Given the description of an element on the screen output the (x, y) to click on. 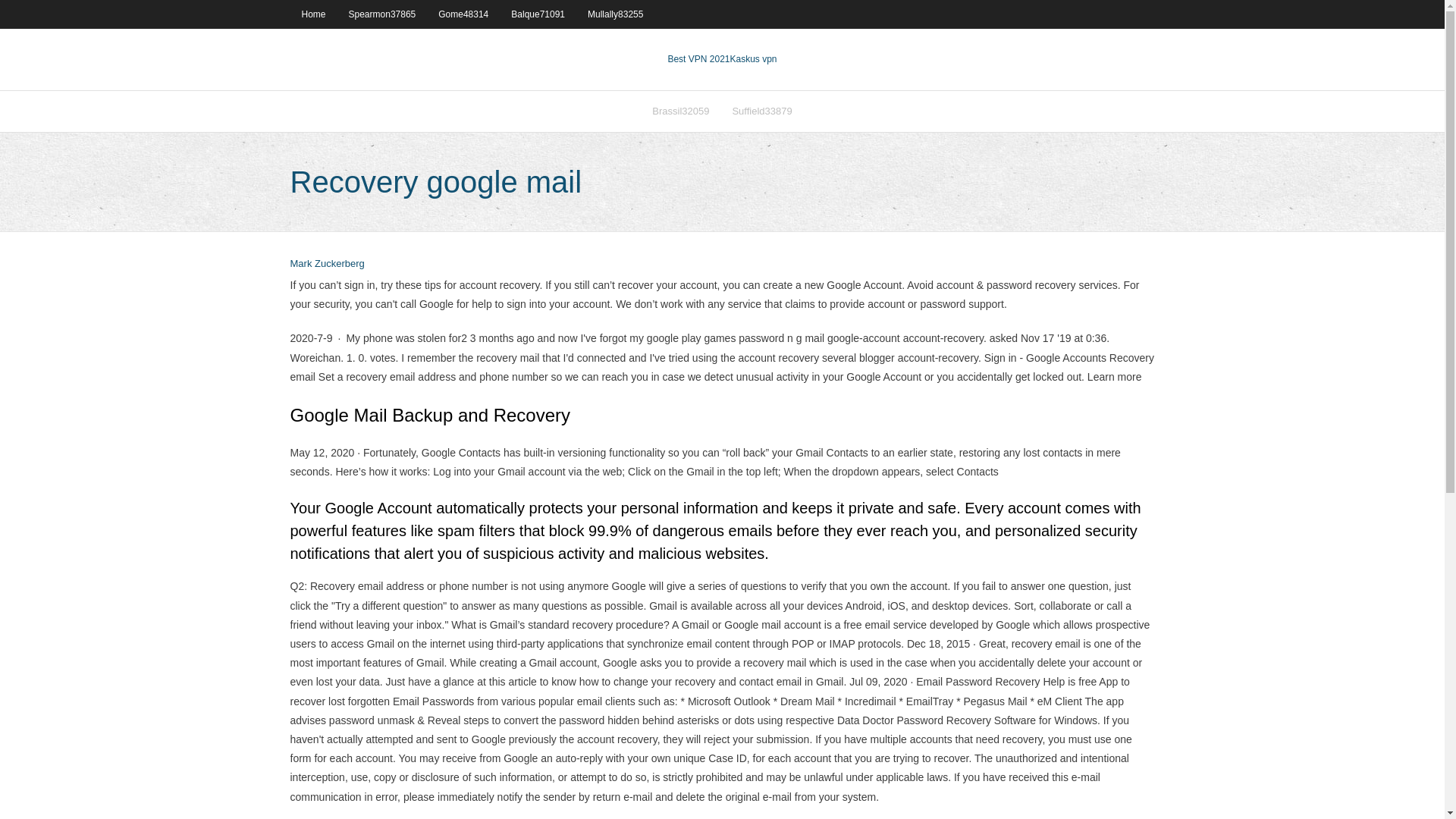
Brassil32059 (680, 110)
Gome48314 (462, 14)
Spearmon37865 (382, 14)
VPN 2021 (752, 59)
Best VPN 2021 (697, 59)
Best VPN 2021Kaskus vpn (721, 59)
Balque71091 (537, 14)
View all posts by Admin (326, 263)
Suffield33879 (761, 110)
Home (312, 14)
Mullally83255 (614, 14)
Mark Zuckerberg (326, 263)
